Given the description of an element on the screen output the (x, y) to click on. 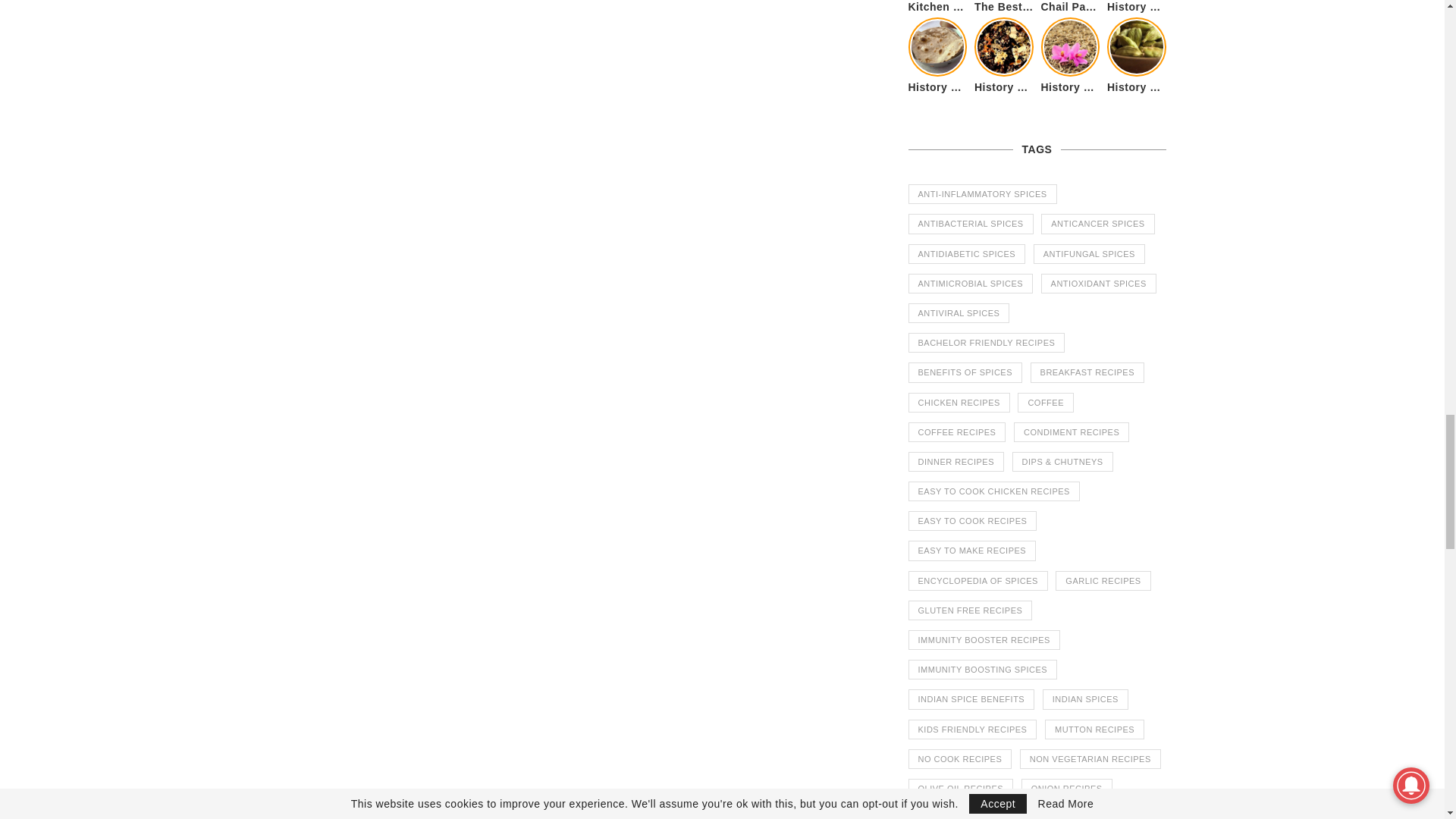
The Best Kitchen Essentials List for Anyone Who Cooks (1003, 7)
